Given the description of an element on the screen output the (x, y) to click on. 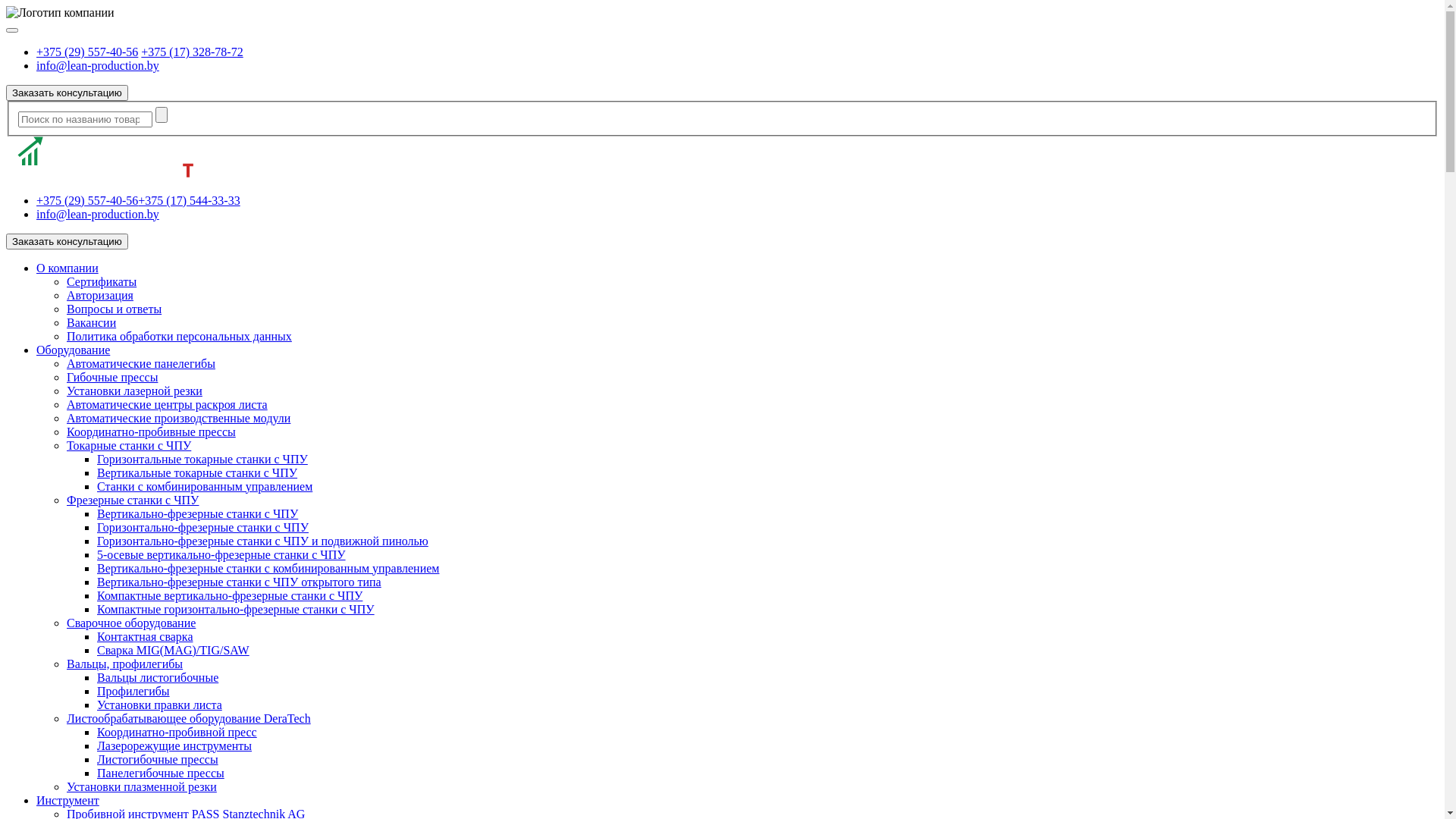
Lean-Concept Element type: hover (99, 157)
info@lean-production.by Element type: text (97, 213)
+375 (29) 557-40-56 Element type: text (87, 200)
+375 (29) 557-40-56 Element type: text (87, 51)
info@lean-production.by Element type: text (97, 65)
+375 (17) 328-78-72 Element type: text (191, 51)
+375 (17) 544-33-33 Element type: text (188, 200)
